Given the description of an element on the screen output the (x, y) to click on. 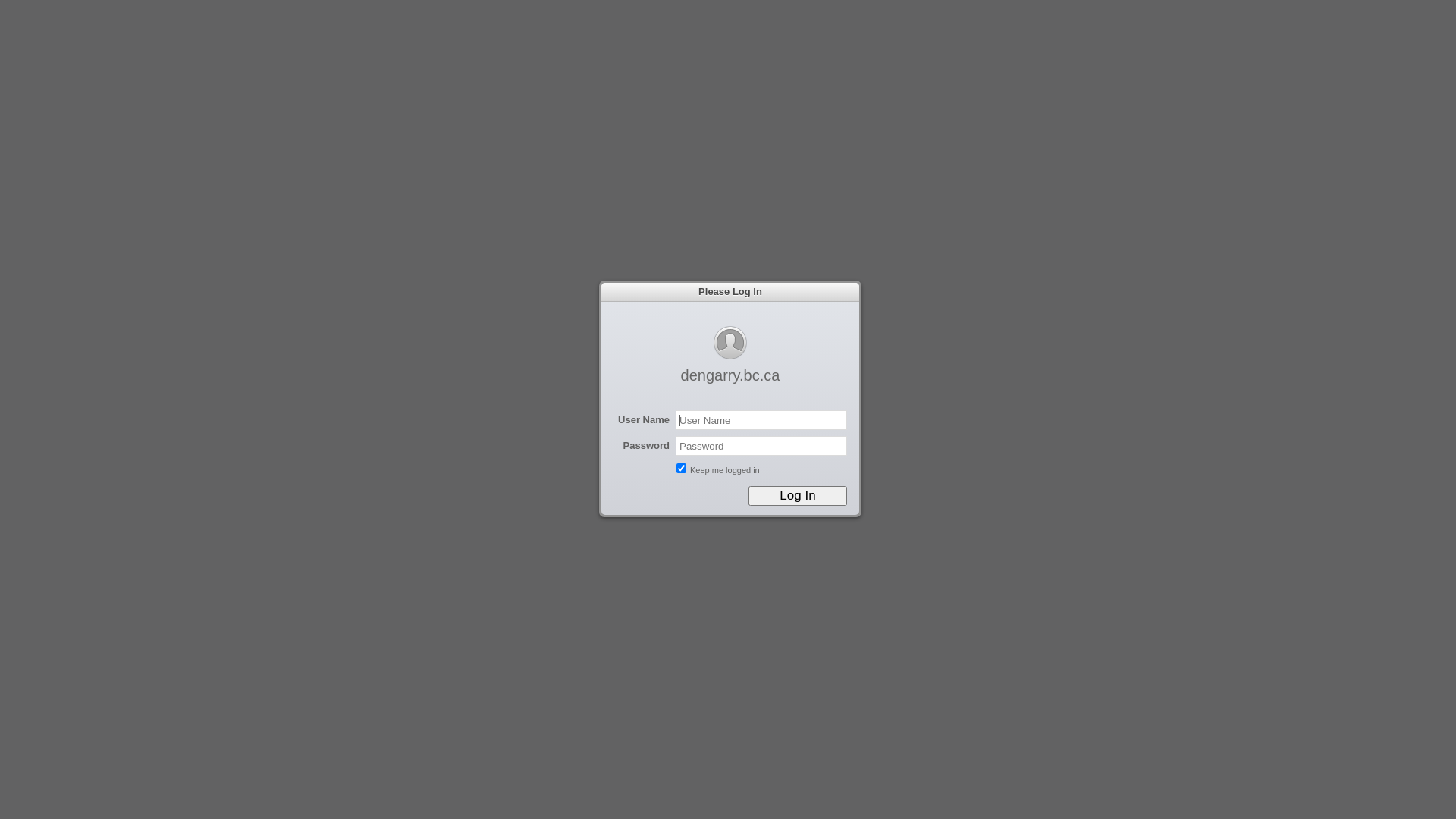
Cancel Element type: text (49, 9)
Log In Element type: text (797, 495)
